Given the description of an element on the screen output the (x, y) to click on. 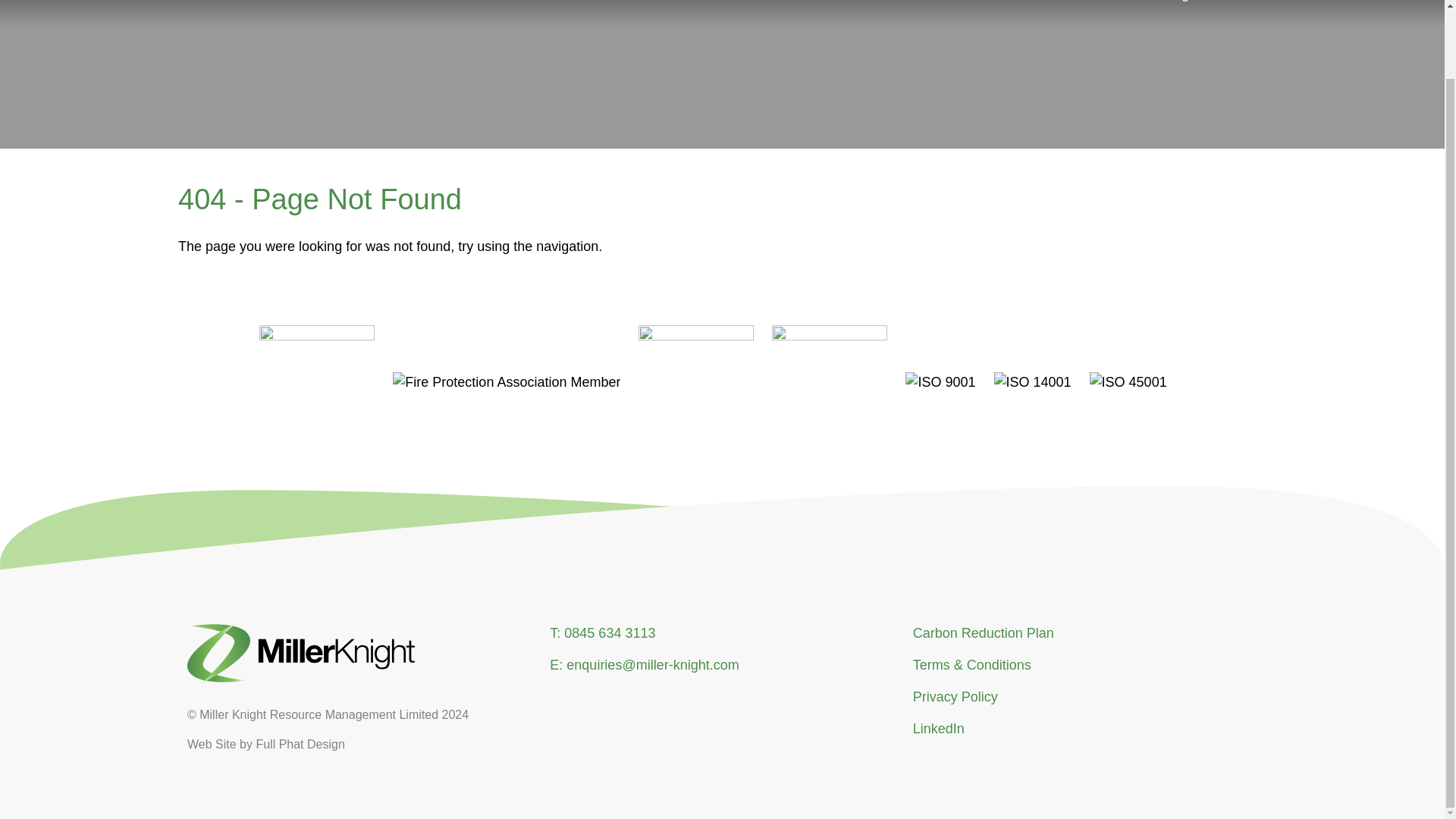
Remedial Fire Protection (853, 6)
Facilities Management (1167, 6)
Fire Protection (1013, 6)
Refurbishment (701, 6)
